Given the description of an element on the screen output the (x, y) to click on. 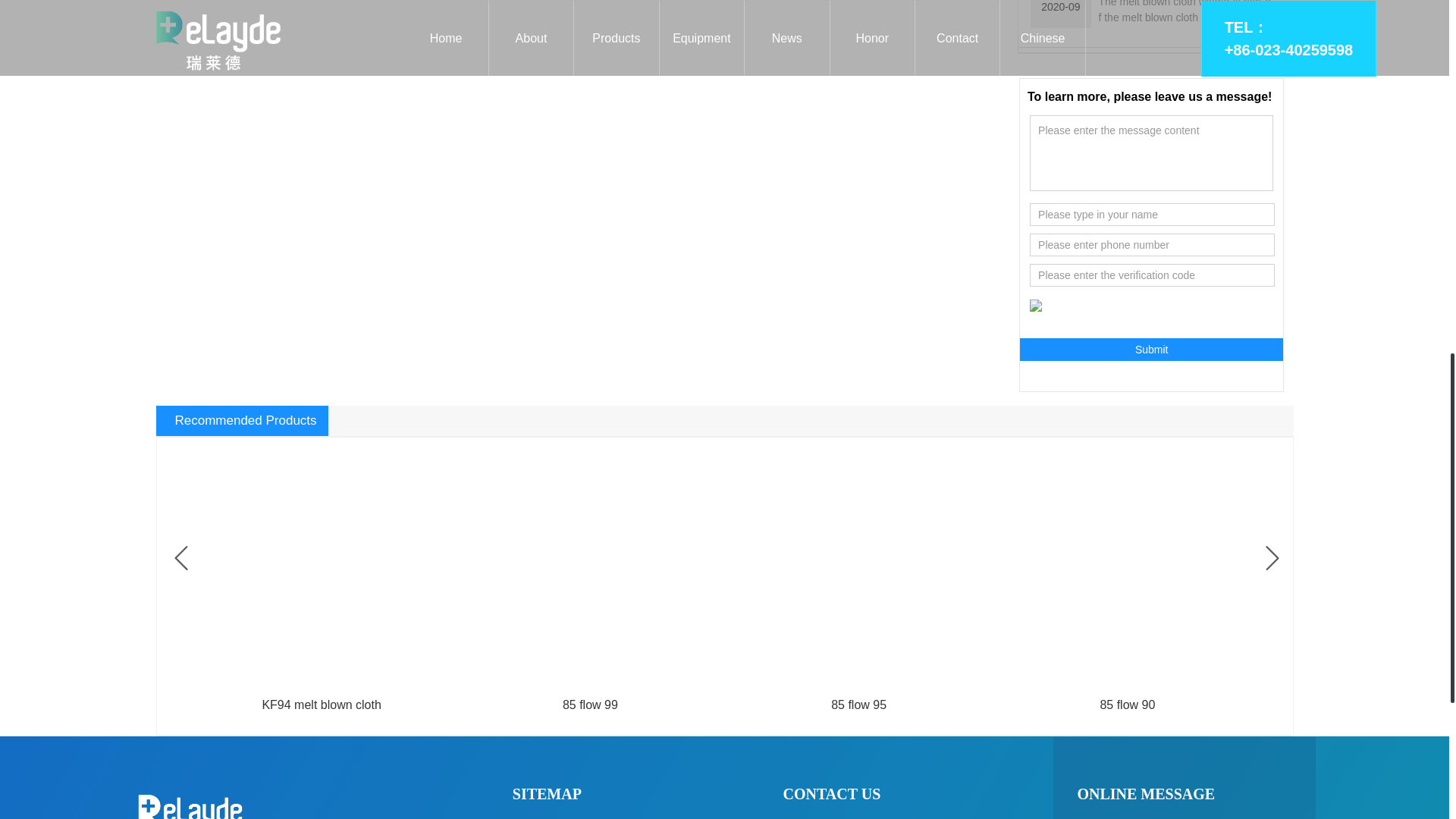
KF94 melt blown cloth (320, 705)
85 flow 95 (858, 705)
Submit (1152, 349)
relayde (1035, 305)
85 flow 99 (590, 705)
relayde (1126, 564)
relayde (858, 564)
relayde (590, 564)
85 flow 90 (1126, 705)
relayde (320, 564)
